Given the description of an element on the screen output the (x, y) to click on. 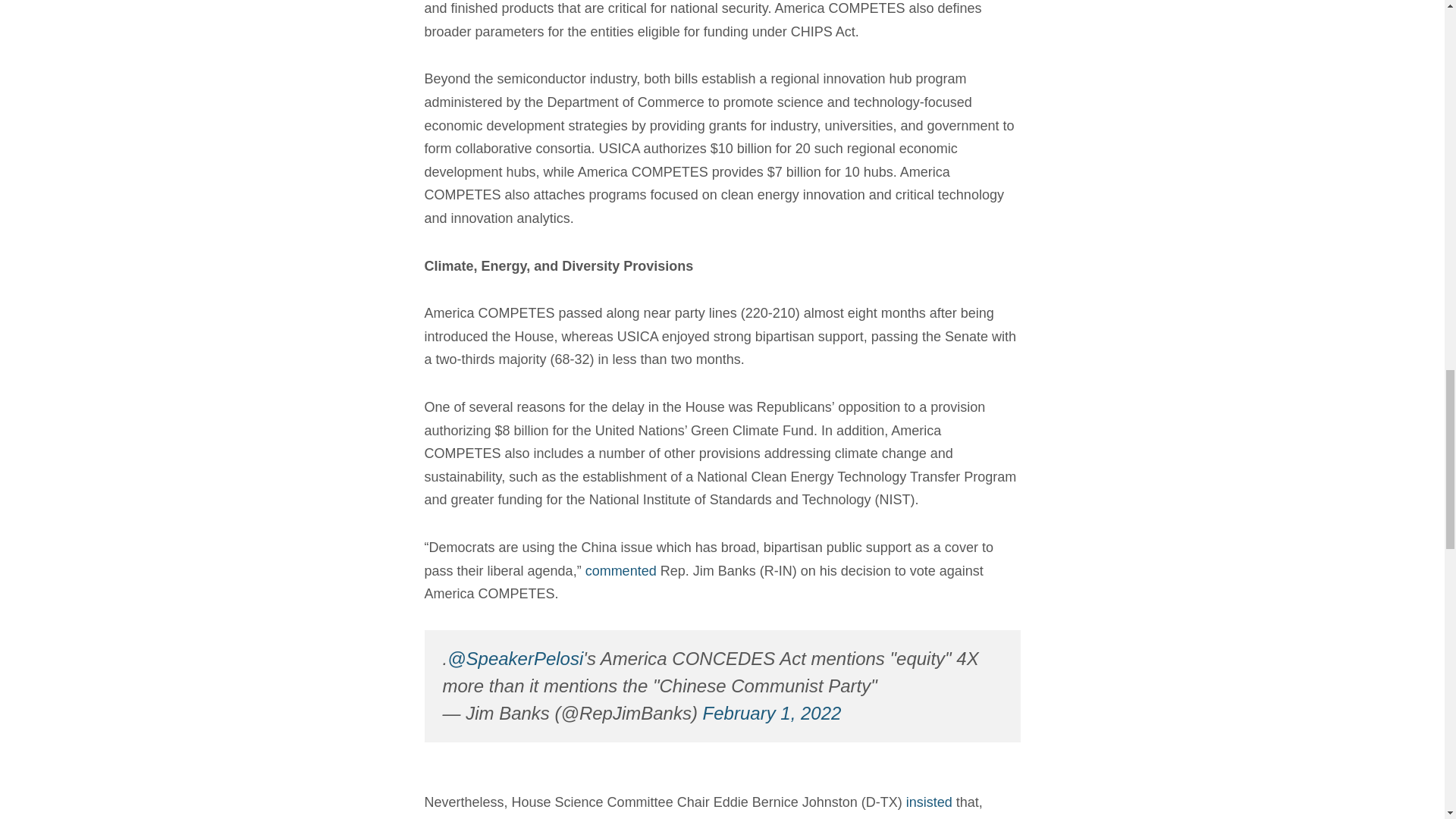
February 1, 2022 (772, 712)
commented (620, 570)
insisted (928, 801)
